Given the description of an element on the screen output the (x, y) to click on. 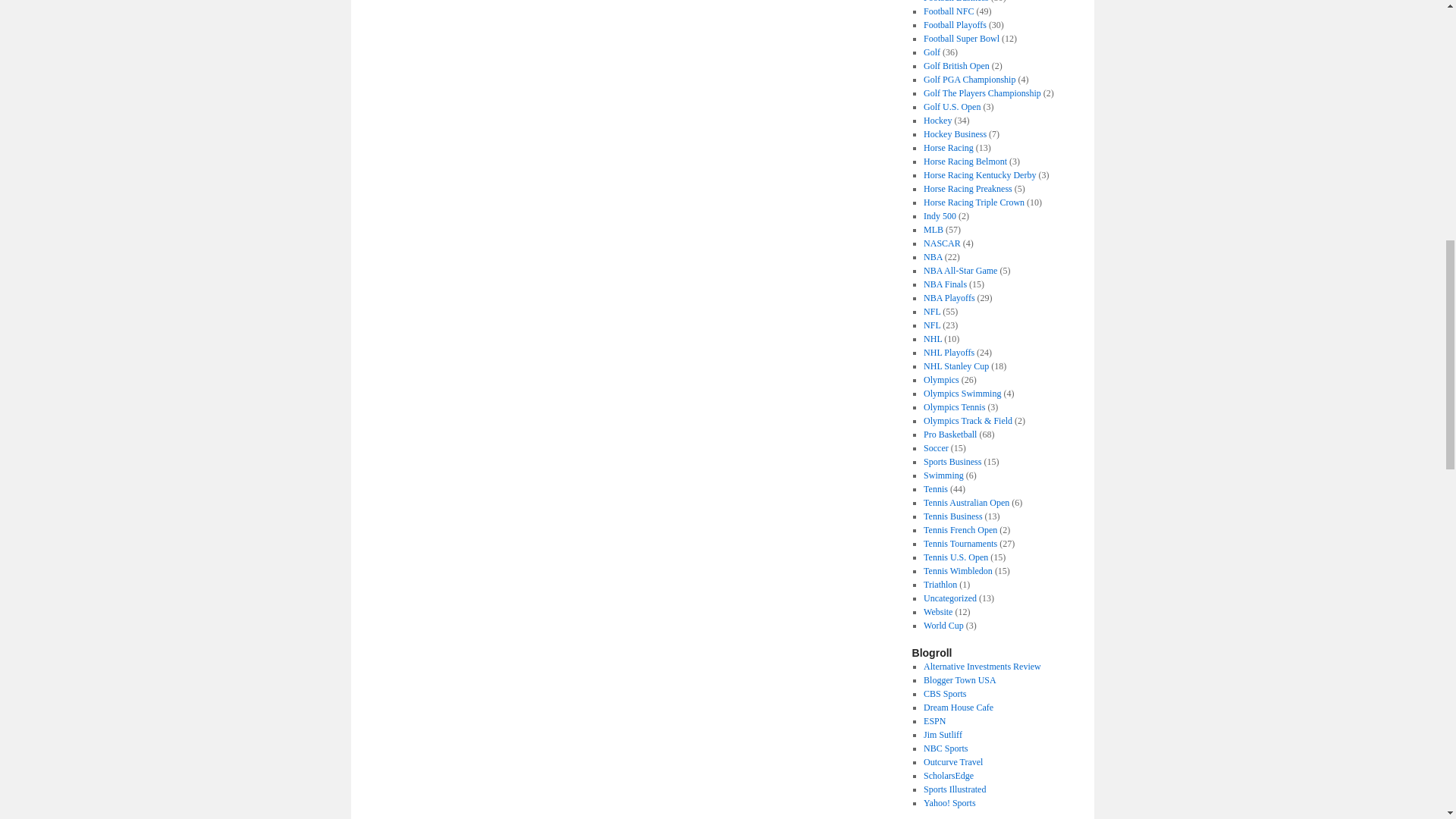
Alternative Investments Review (982, 665)
Blogger Town USA (959, 679)
CBS Sports (944, 693)
